Given the description of an element on the screen output the (x, y) to click on. 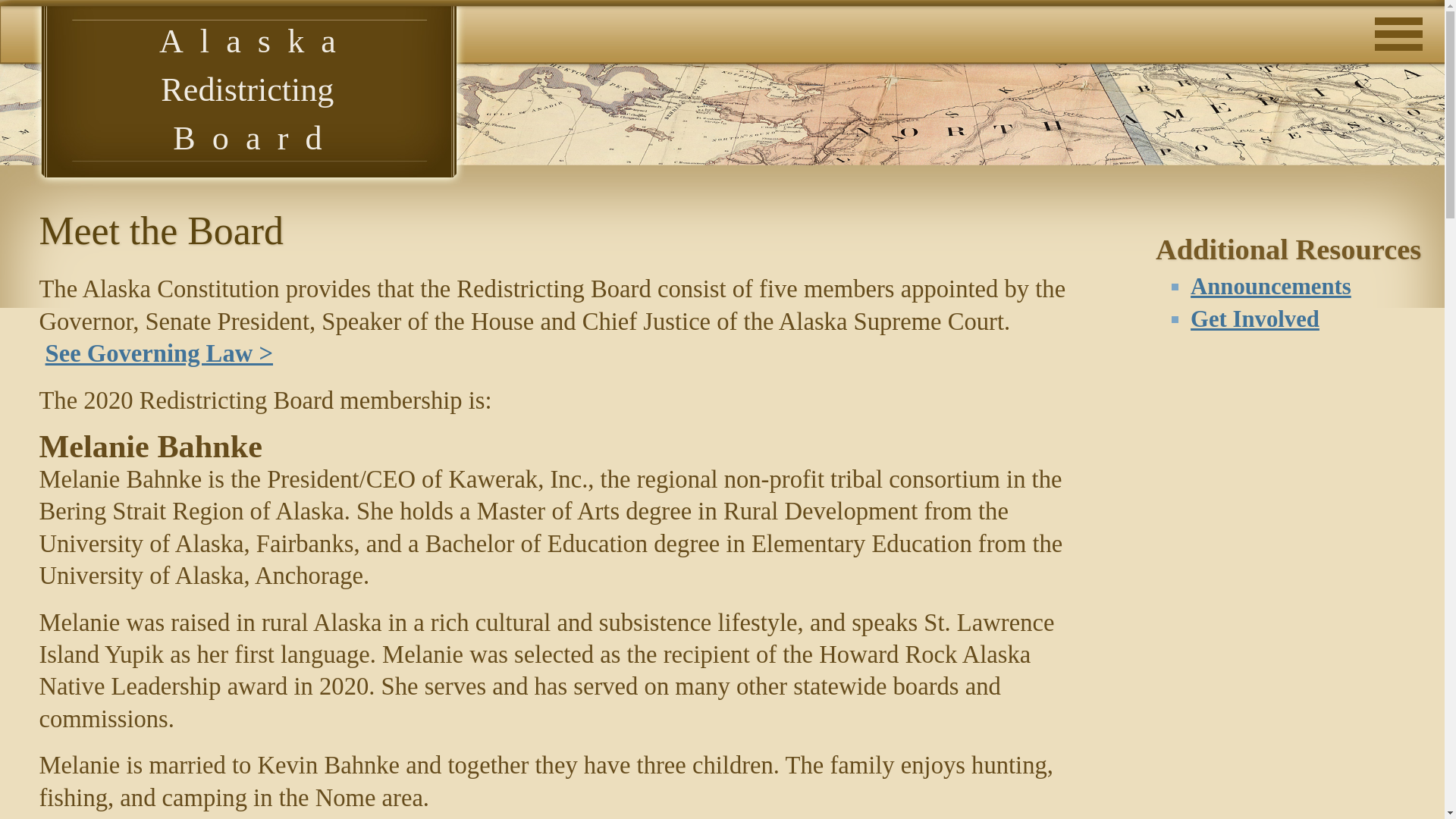
Governing Law (159, 352)
Announcements (1271, 286)
Get Involved (1255, 319)
toggle navigation (1401, 18)
